Given the description of an element on the screen output the (x, y) to click on. 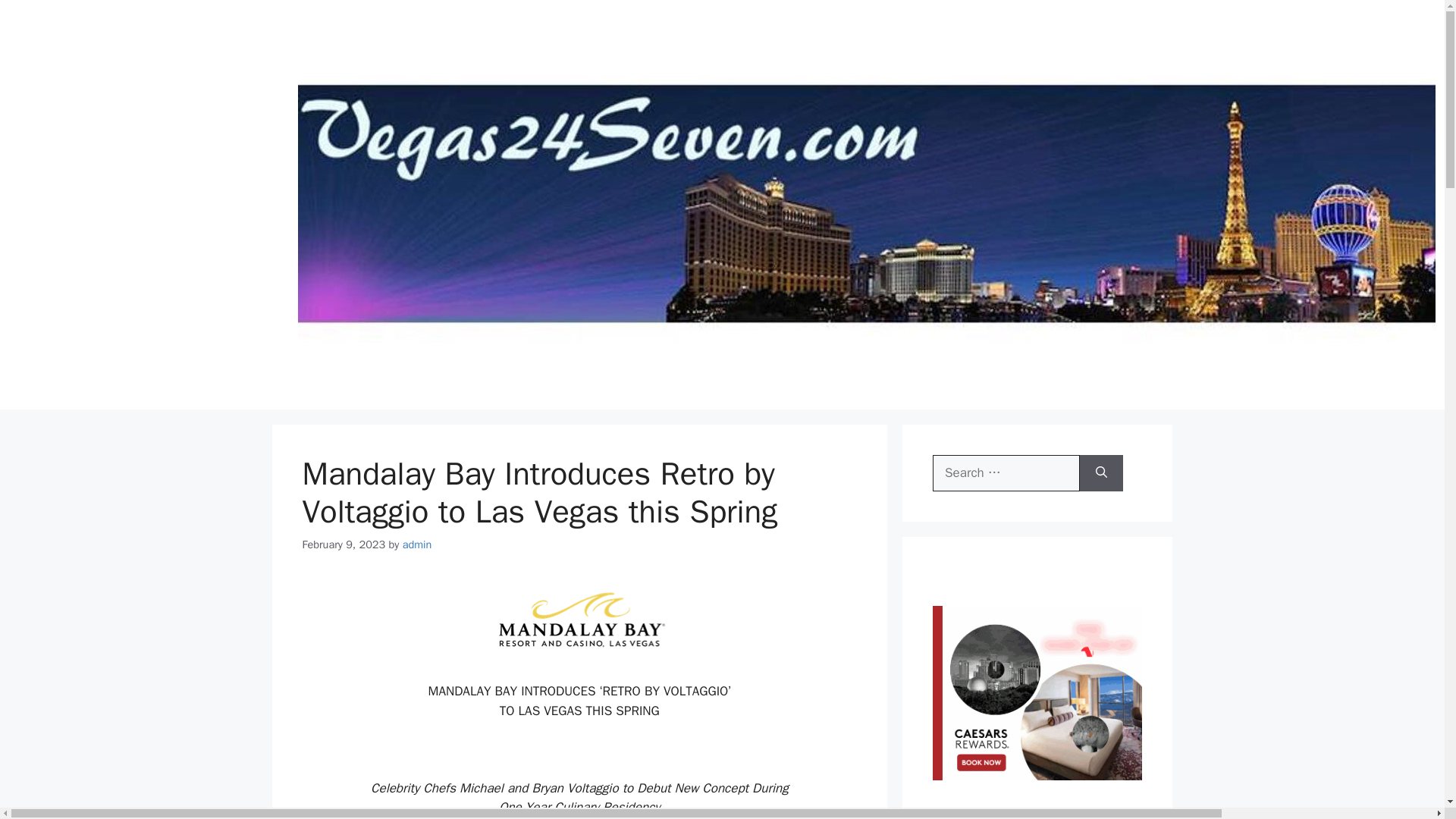
admin (417, 544)
View all posts by admin (417, 544)
Search for: (1006, 473)
